Given the description of an element on the screen output the (x, y) to click on. 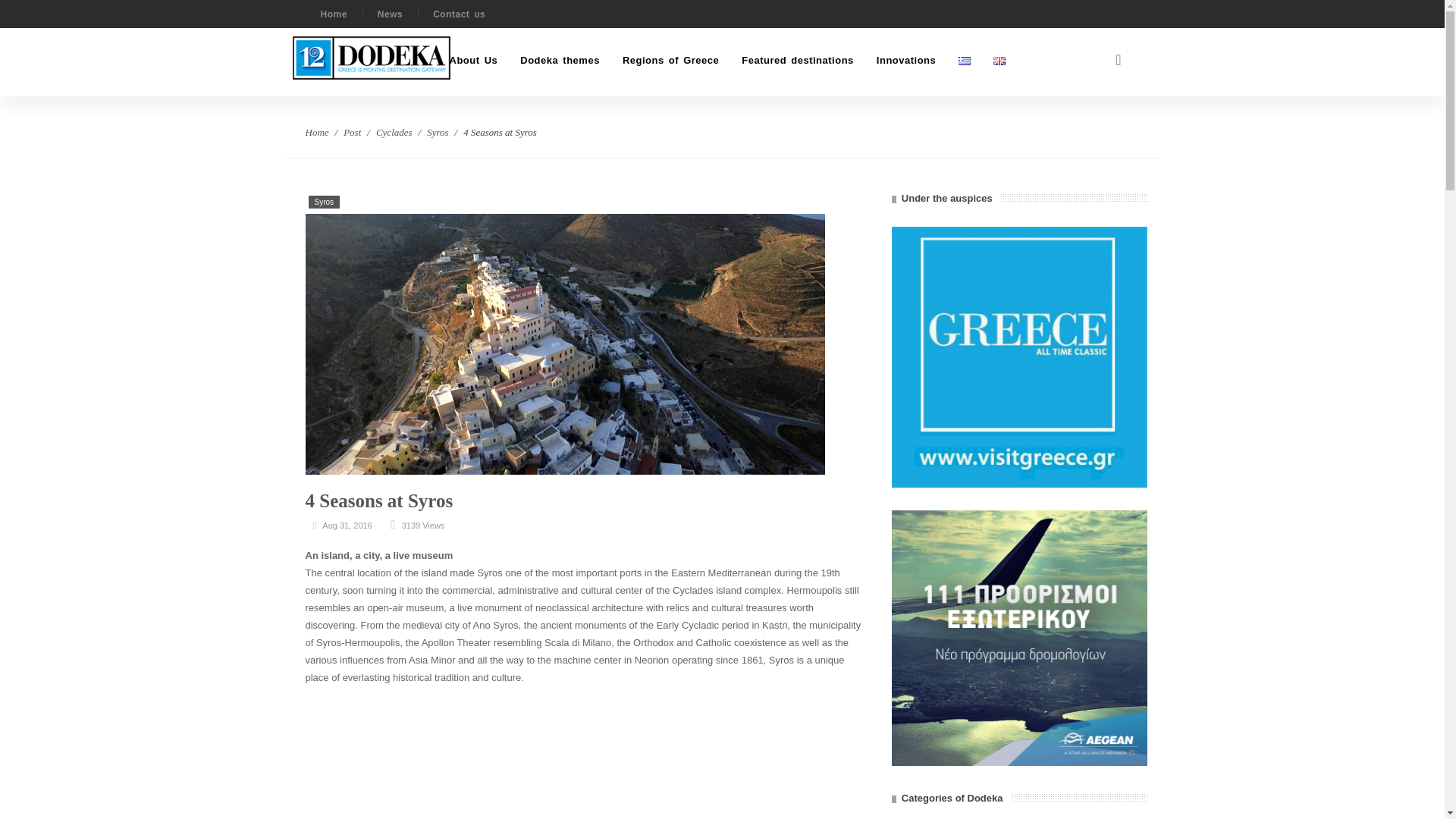
News (390, 14)
Home (333, 14)
Regions of Greece (670, 59)
Dodeka themes (559, 59)
Contact us (458, 14)
About Us (473, 59)
English (999, 60)
